Given the description of an element on the screen output the (x, y) to click on. 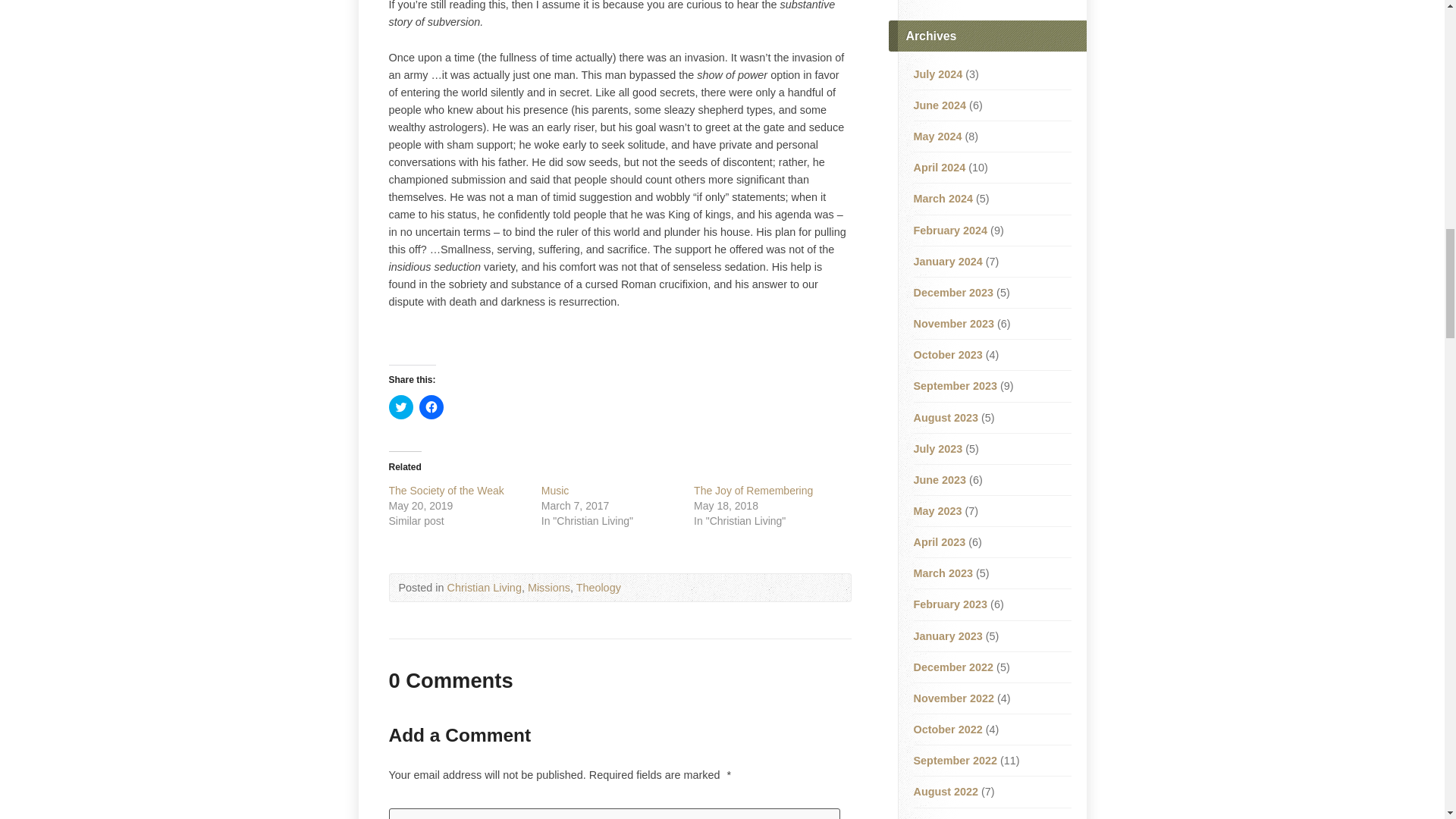
Music (555, 490)
Theology (598, 587)
The Society of the Weak (445, 490)
Music (555, 490)
Christian Living (483, 587)
The Joy of Remembering (753, 490)
Missions (548, 587)
Click to share on Twitter (400, 406)
Click to share on Facebook (430, 406)
The Joy of Remembering (753, 490)
The Society of the Weak (445, 490)
